Given the description of an element on the screen output the (x, y) to click on. 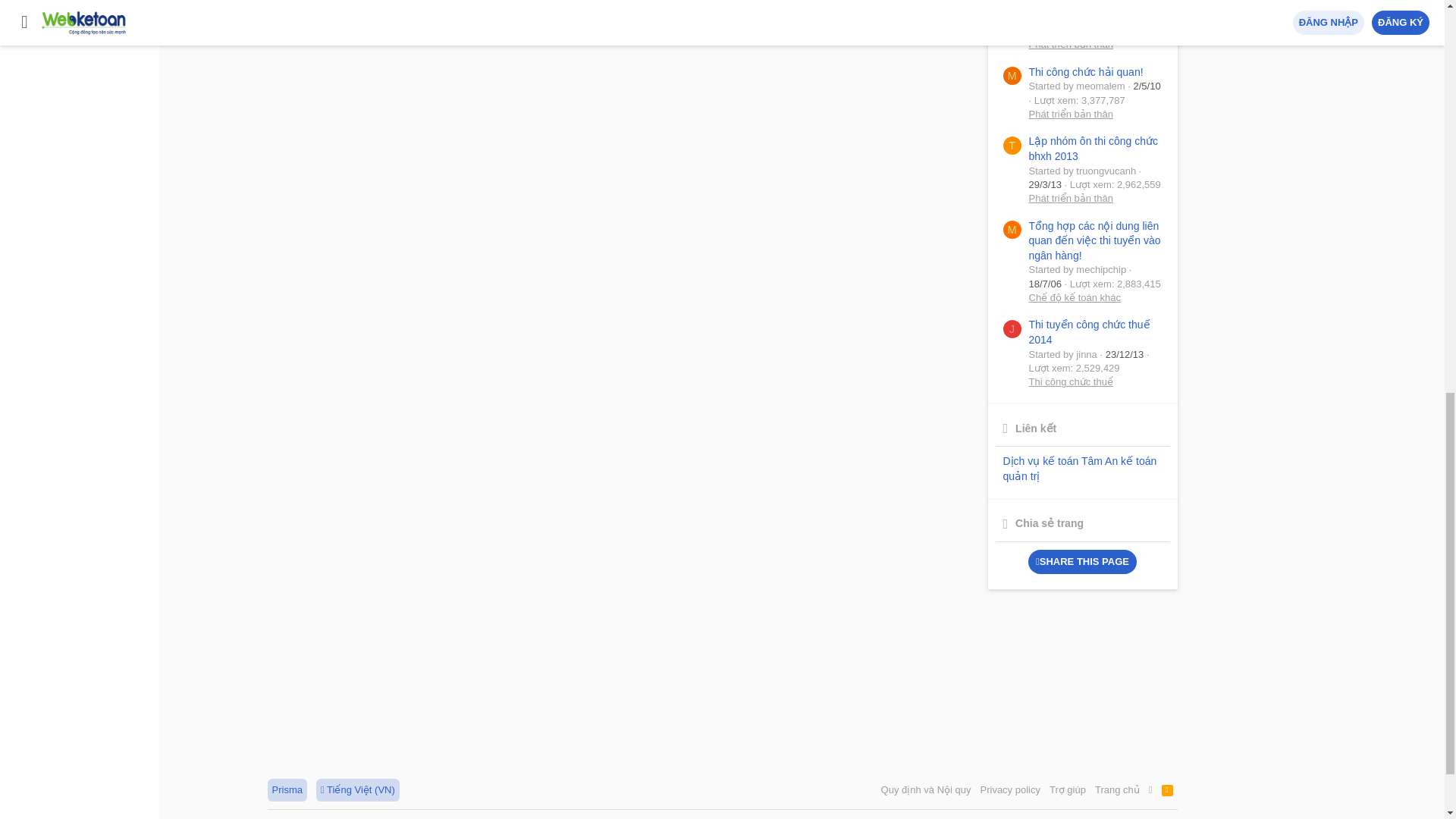
RSS (1167, 789)
Top (1150, 789)
